Given the description of an element on the screen output the (x, y) to click on. 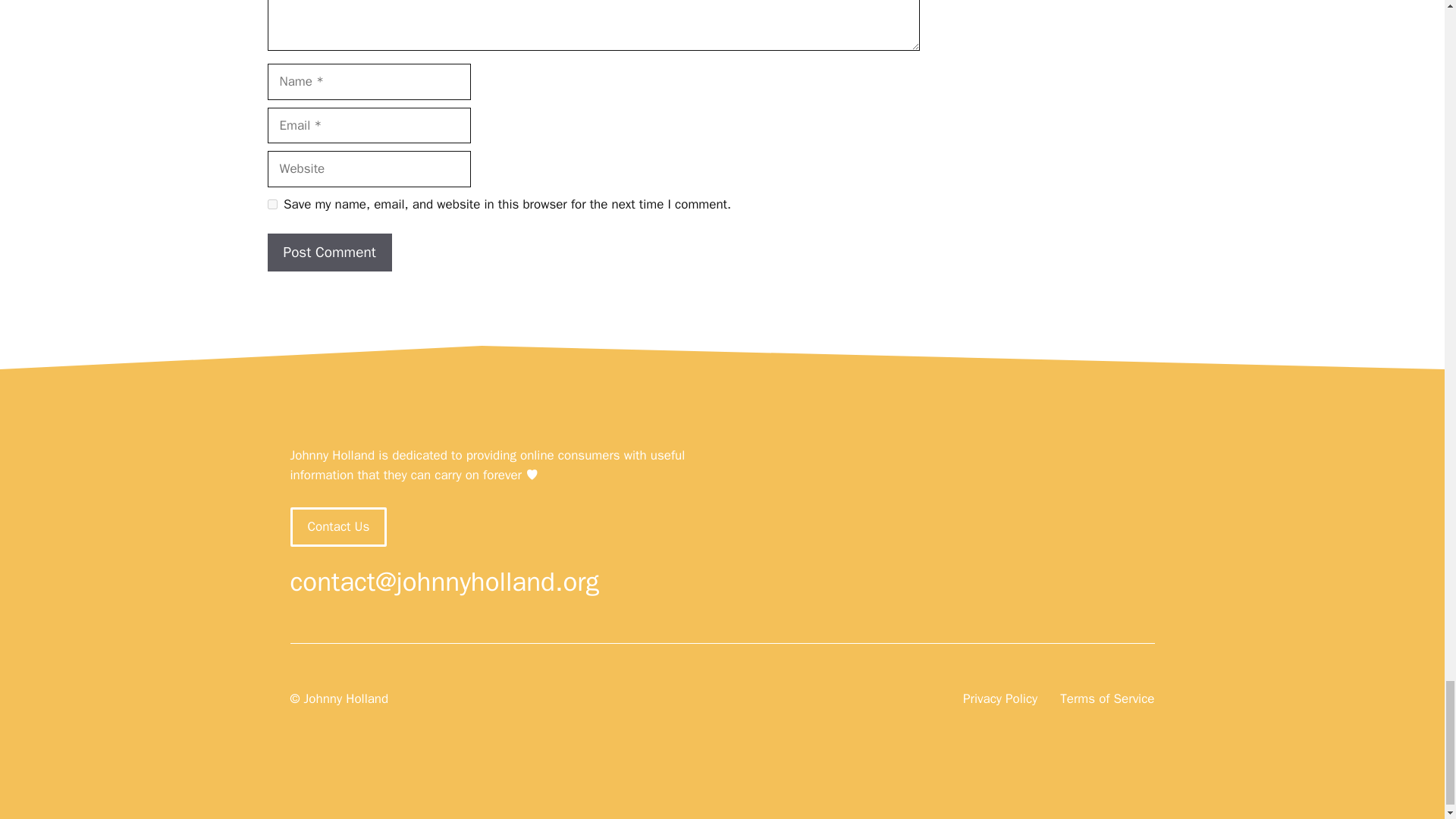
Post Comment (328, 252)
Terms of Service (1106, 699)
Contact Us (338, 526)
yes (271, 204)
Privacy Policy (999, 699)
Post Comment (328, 252)
